Given the description of an element on the screen output the (x, y) to click on. 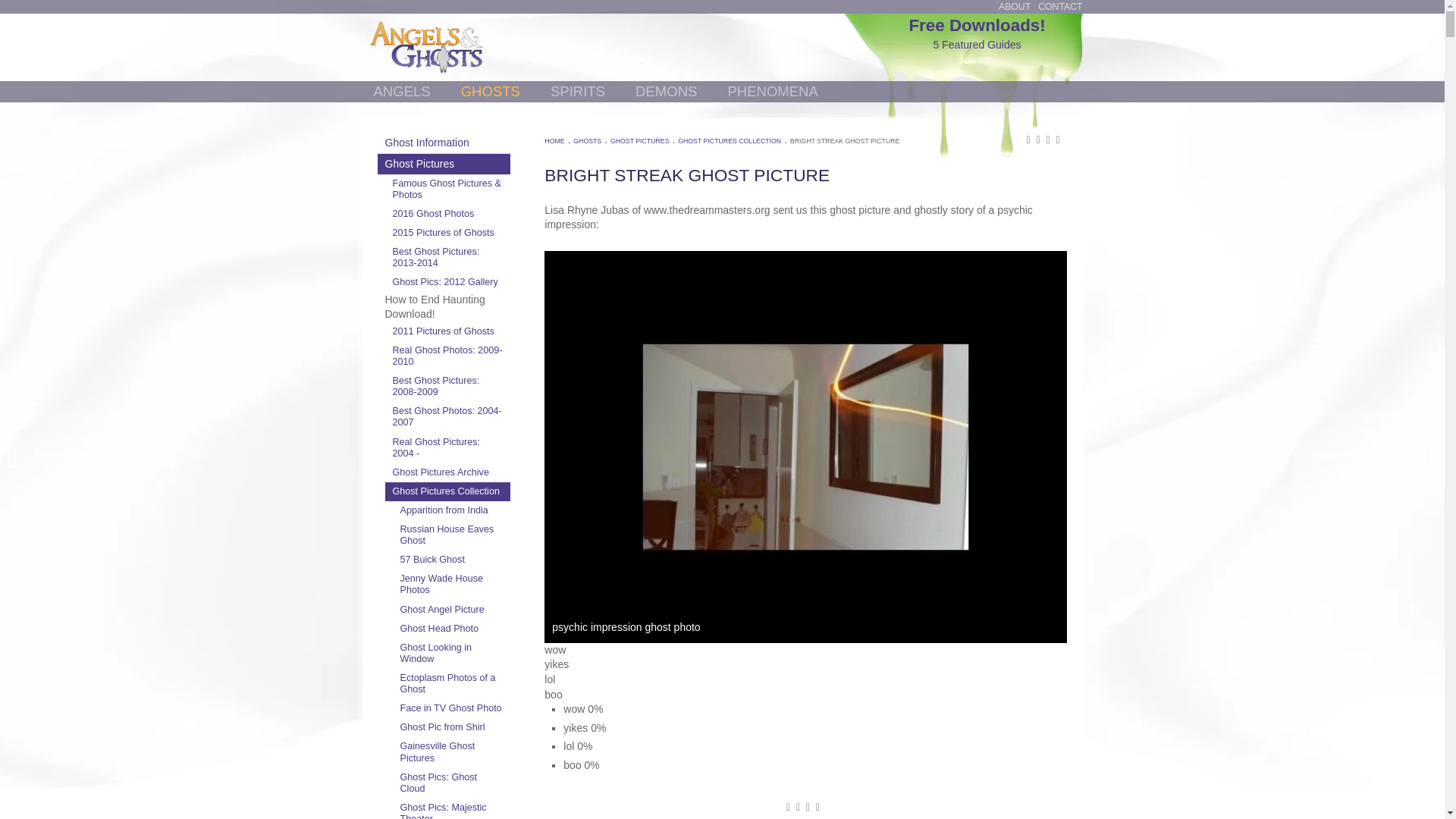
Ghost Angel Picture (452, 609)
ABOUT (1014, 6)
Real Ghost Pictures: 2004 - (448, 447)
2016 Ghost Photos (448, 213)
Real Ghost Photos: 2009-2010 (448, 356)
Best Ghost Pictures: 2013-2014 (448, 257)
Ghost Pictures (444, 163)
Ectoplasm Photos of a Ghost (452, 684)
Best Ghost Pictures: 2008-2009 (448, 386)
GHOSTS (489, 91)
